Given the description of an element on the screen output the (x, y) to click on. 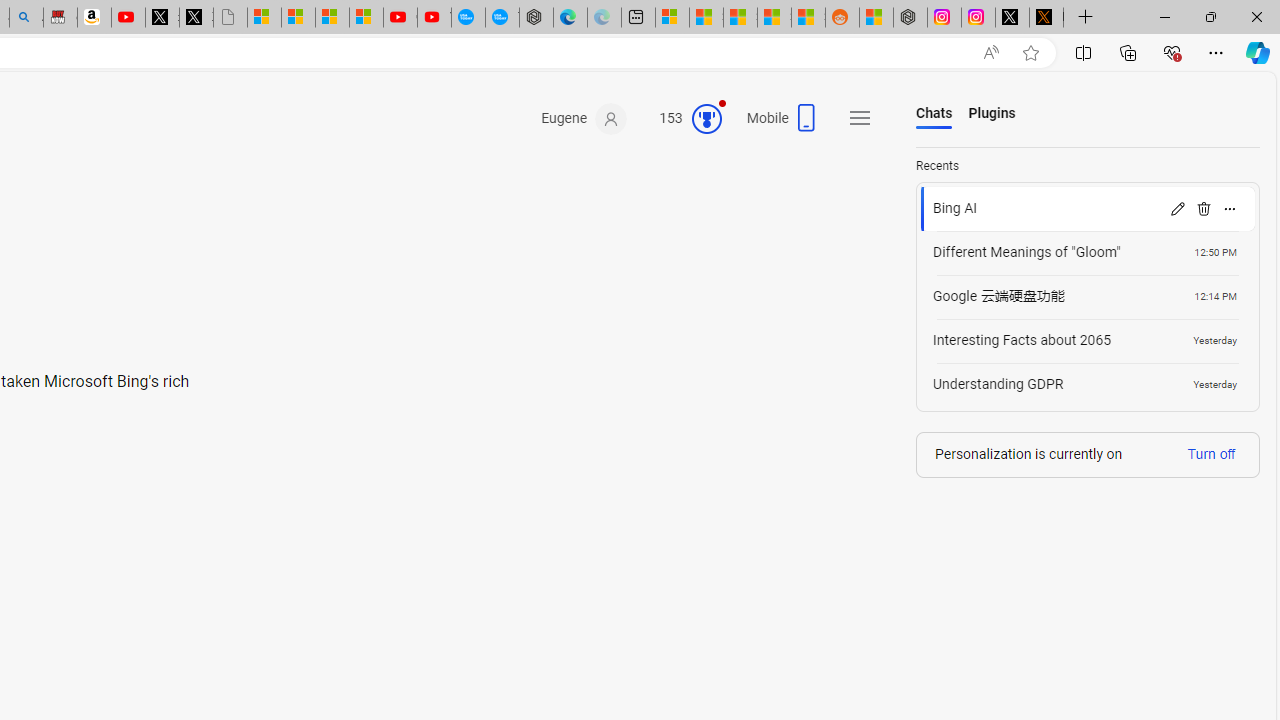
The most popular Google 'how to' searches (502, 17)
Gloom - YouTube (400, 17)
Plugins (991, 113)
YouTube Kids - An App Created for Kids to Explore Content (434, 17)
Chats (934, 113)
help.x.com | 524: A timeout occurred (1046, 17)
